Given the description of an element on the screen output the (x, y) to click on. 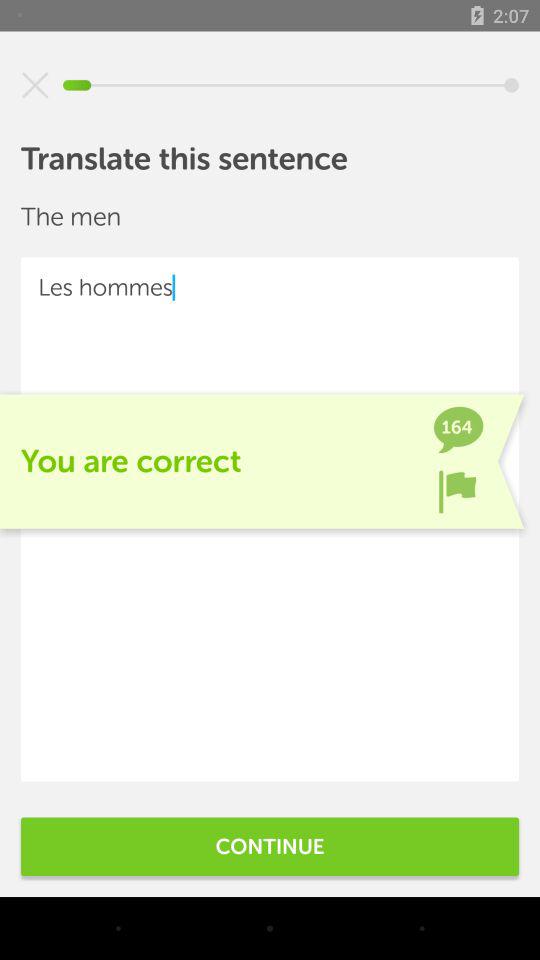
select les hommes (270, 519)
